Given the description of an element on the screen output the (x, y) to click on. 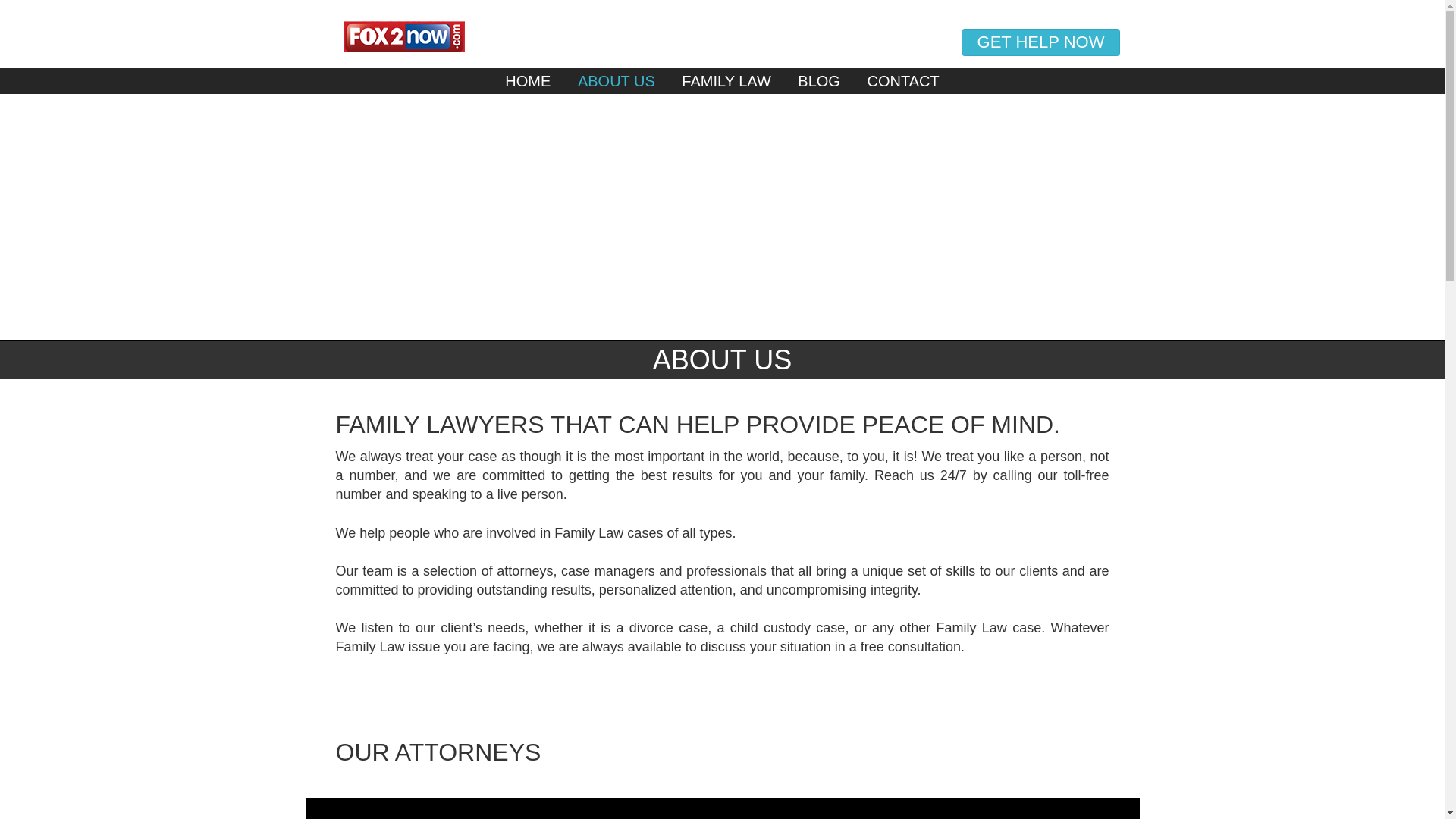
FAMILY LAW (725, 80)
BLOG (818, 80)
HOME (527, 80)
CONTACT (903, 80)
ABOUT US (616, 80)
Cornerstone Family Lawyers (721, 35)
816-581-4040 (1040, 28)
